Given the description of an element on the screen output the (x, y) to click on. 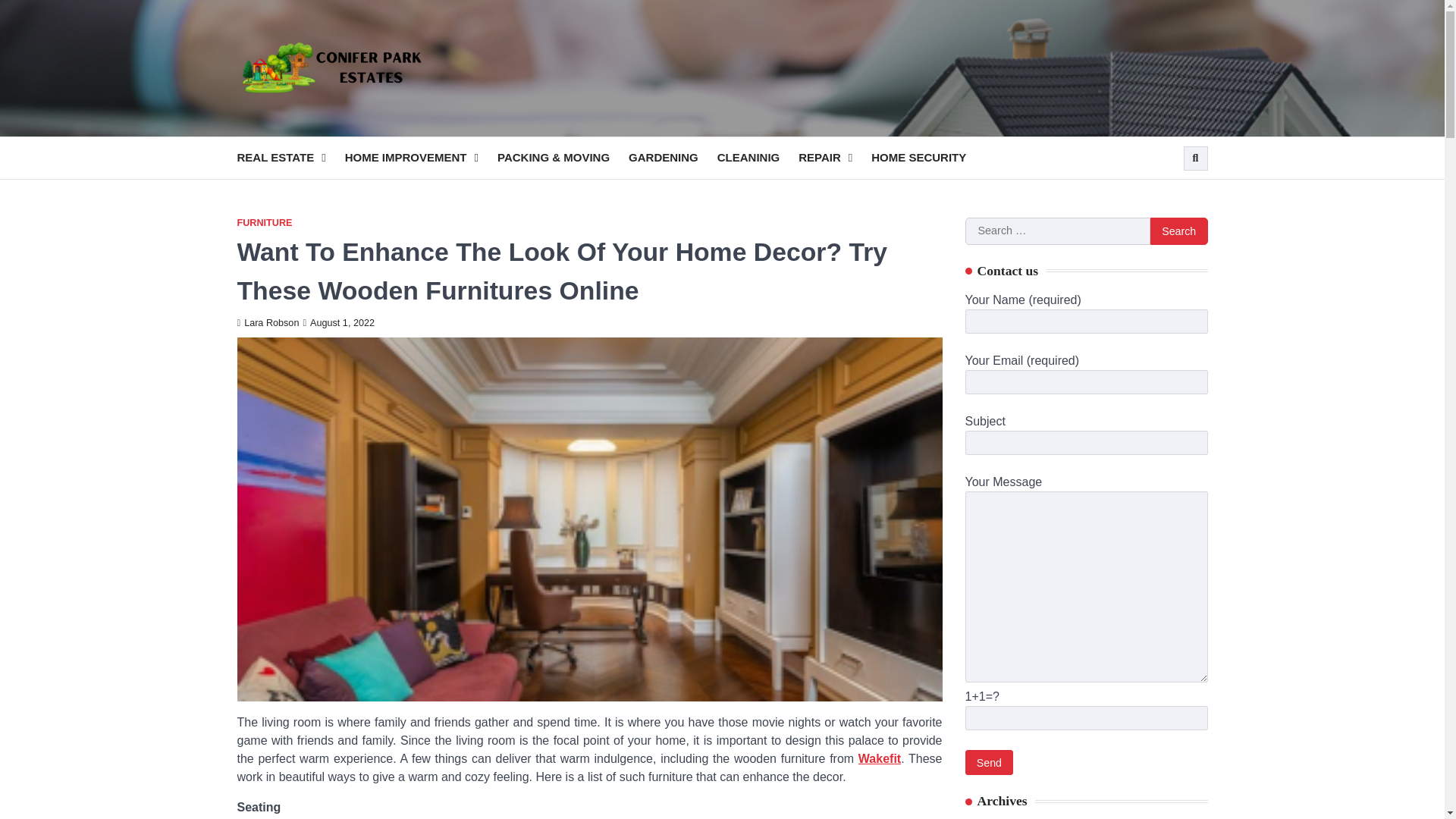
Send (988, 762)
Lara Robson (266, 322)
GARDENING (672, 158)
Wakefit (880, 758)
HOME SECURITY (927, 158)
Search (1167, 194)
Search (1179, 230)
Search (1179, 230)
CLEANINIG (758, 158)
Search (1179, 230)
